Given the description of an element on the screen output the (x, y) to click on. 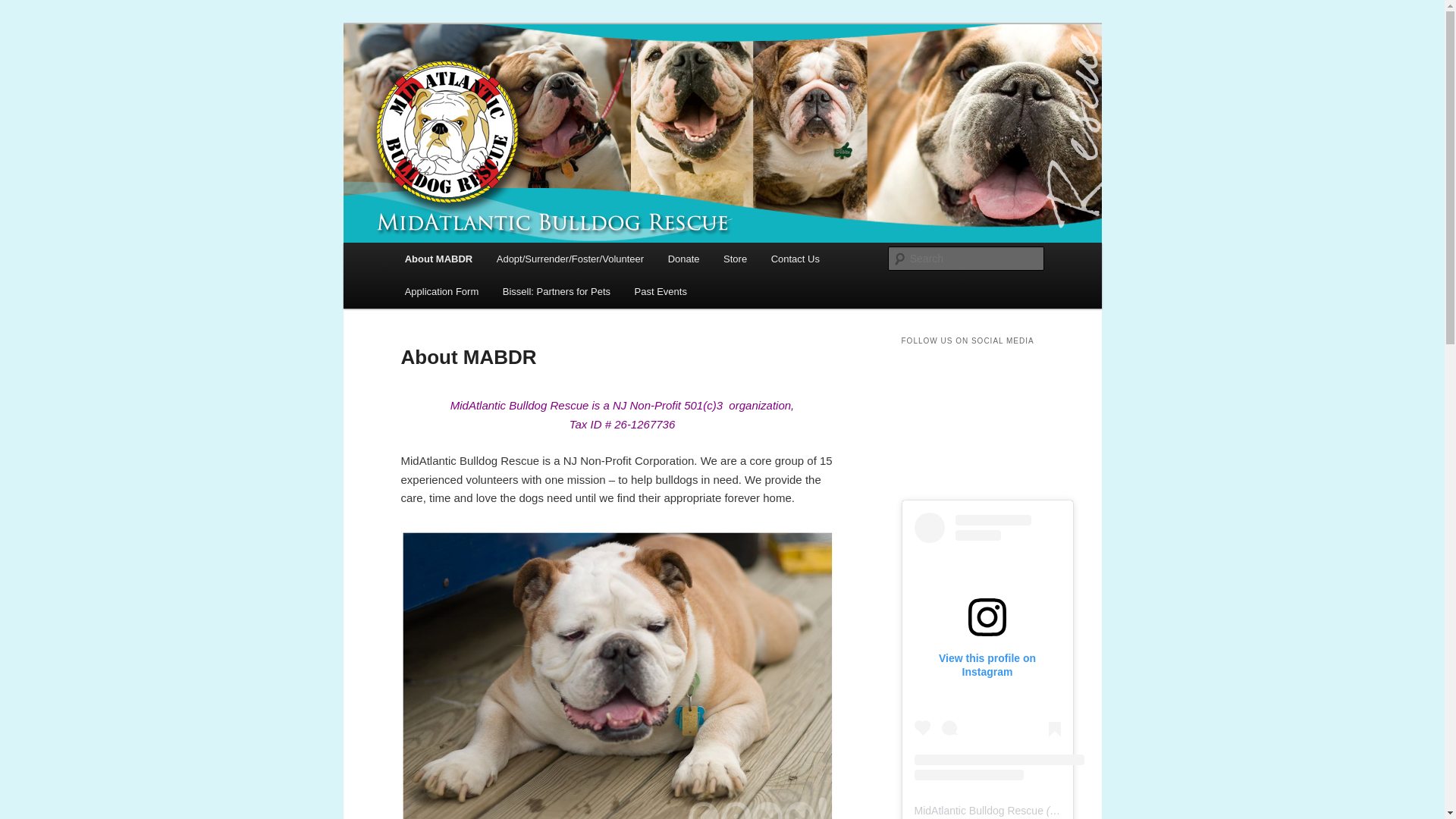
View this profile on Instagram (987, 646)
Bissell: Partners for Pets (556, 291)
Store (734, 258)
Search (24, 8)
MABR (434, 78)
Contact Us (794, 258)
Application Form (441, 291)
Donate (683, 258)
About MABDR (438, 258)
Past Events (660, 291)
MidAtlantic Bulldog Rescue (978, 810)
